Given the description of an element on the screen output the (x, y) to click on. 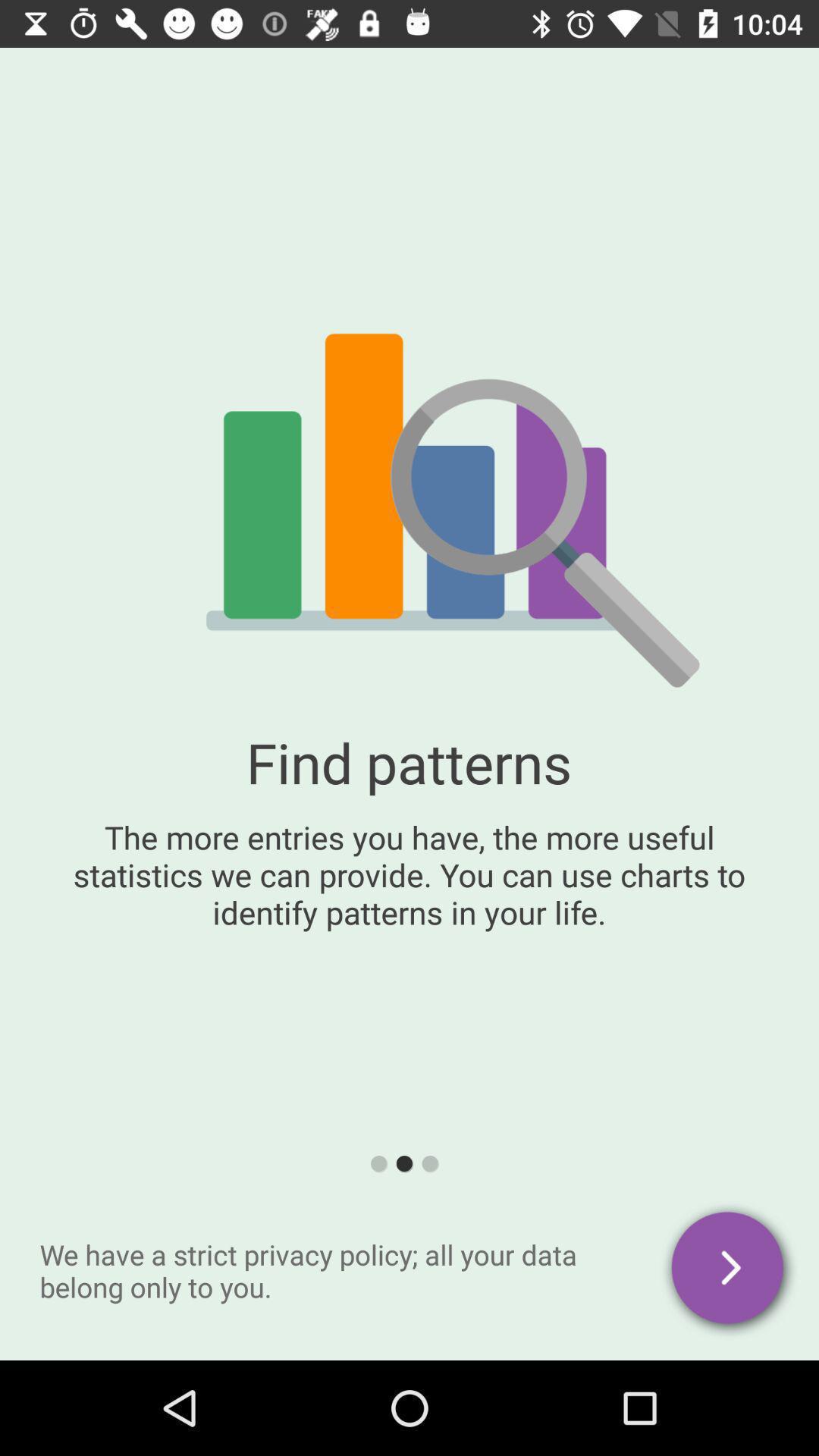
turn on icon below the more entries item (729, 1270)
